Given the description of an element on the screen output the (x, y) to click on. 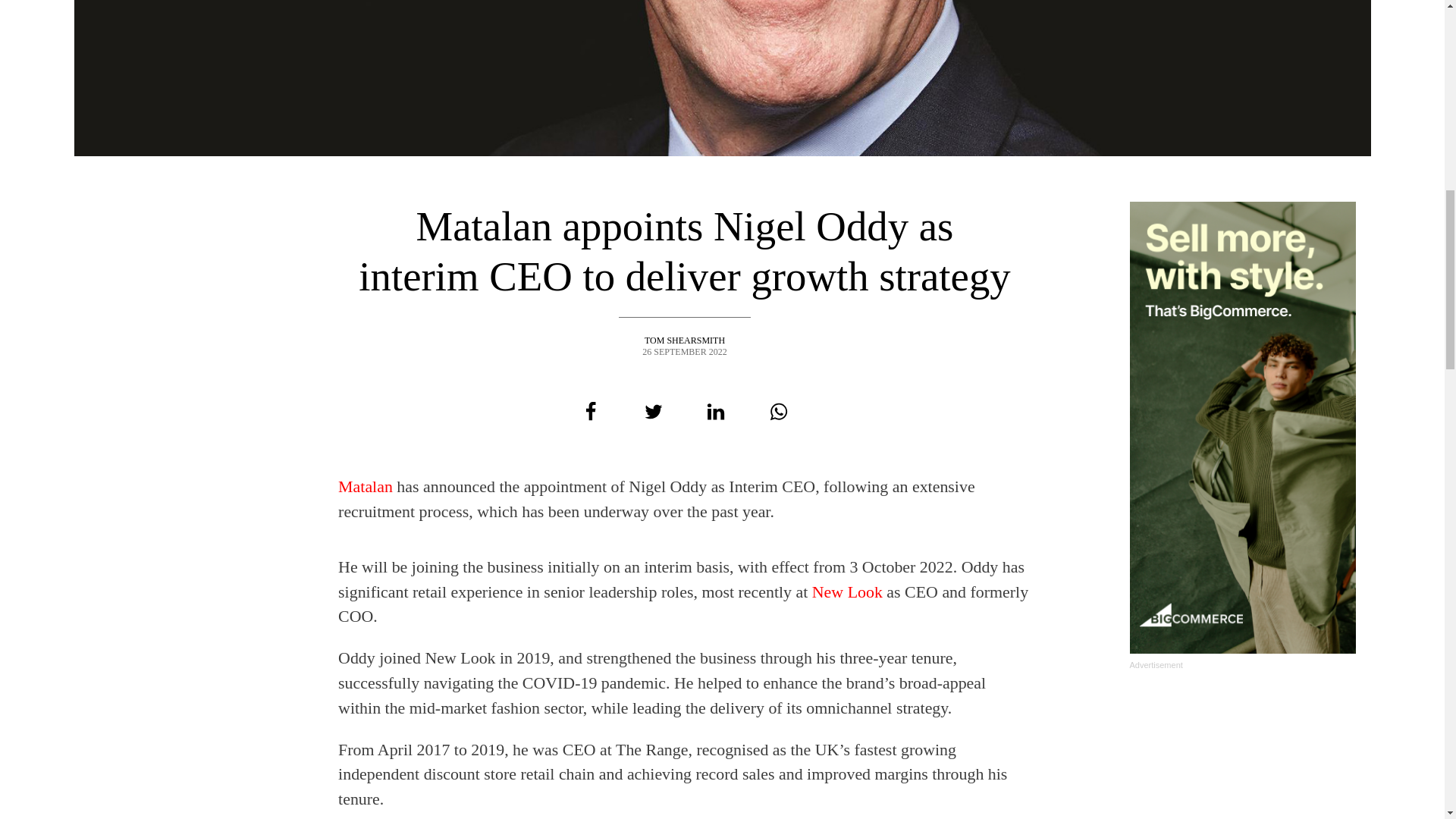
New Look (847, 591)
Matalan (365, 486)
